Given the description of an element on the screen output the (x, y) to click on. 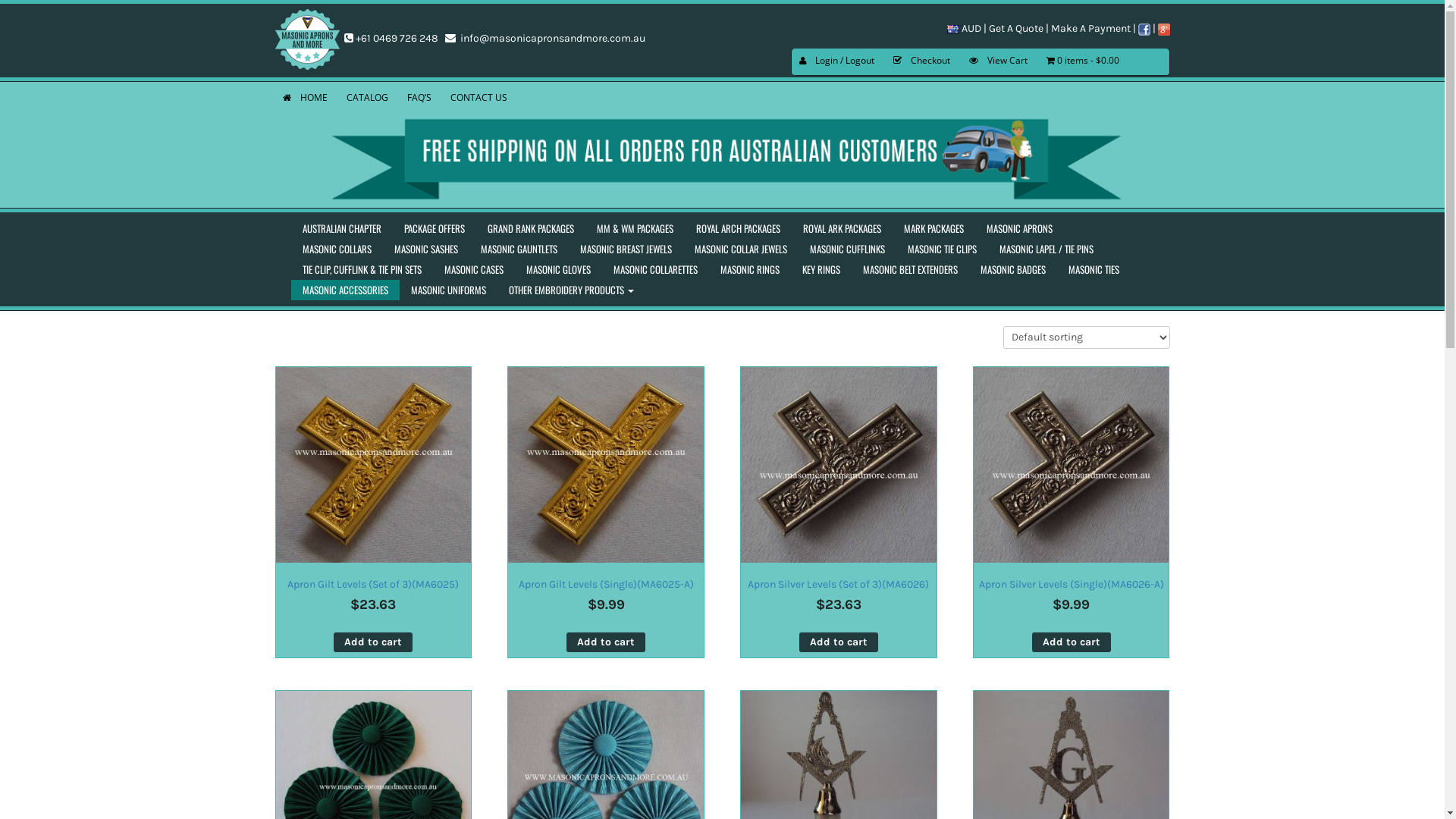
View Cart Element type: text (998, 61)
MASONIC GLOVES Element type: text (557, 269)
Add to cart Element type: text (838, 642)
HOME Element type: text (304, 98)
Apron Gilt Levels (Set of 3)(MA6025)
$23.63 Element type: text (373, 507)
Get A Quote Element type: text (1015, 25)
CATALOG Element type: text (366, 98)
MASONIC CUFFLINKS Element type: text (846, 248)
Checkout Element type: text (921, 61)
OTHER EMBROIDERY PRODUCTS Element type: text (571, 289)
KEY RINGS Element type: text (820, 269)
AUSTRALIAN CHAPTER Element type: text (341, 228)
TIE CLIP, CUFFLINK & TIE PIN SETS Element type: text (362, 269)
CONTACT US Element type: text (478, 98)
Apron Silver Levels (Single)(MA6026-A)
$9.99 Element type: text (1071, 507)
Add to cart Element type: text (1071, 642)
MM & WM PACKAGES Element type: text (634, 228)
Apron Gilt Levels (Single)(MA6025-A)
$9.99 Element type: text (605, 507)
0 items$0.00 Element type: text (1082, 61)
MASONIC GAUNTLETS Element type: text (517, 248)
MASONIC COLLAR JEWELS Element type: text (739, 248)
MASONIC SASHES Element type: text (425, 248)
MARK PACKAGES Element type: text (932, 228)
Add to cart Element type: text (372, 642)
MASONIC CASES Element type: text (473, 269)
ROYAL ARCH PACKAGES Element type: text (737, 228)
MASONIC COLLARS Element type: text (336, 248)
GRAND RANK PACKAGES Element type: text (530, 228)
Apron Silver Levels (Set of 3)(MA6026)
$23.63 Element type: text (838, 507)
MASONIC TIES Element type: text (1093, 269)
MASONIC LAPEL / TIE PINS Element type: text (1045, 248)
MASONIC BREAST JEWELS Element type: text (625, 248)
MASONIC ACCESSORIES Element type: text (345, 289)
Login / Logout Element type: text (836, 61)
MASONIC TIE CLIPS Element type: text (942, 248)
Add to cart Element type: text (605, 642)
PACKAGE OFFERS Element type: text (434, 228)
MASONIC APRONS Element type: text (1019, 228)
MASONIC BELT EXTENDERS Element type: text (909, 269)
Make A Payment Element type: text (1090, 25)
ROYAL ARK PACKAGES Element type: text (841, 228)
MASONIC RINGS Element type: text (749, 269)
MASONIC UNIFORMS Element type: text (447, 289)
MASONIC COLLARETTES Element type: text (655, 269)
MASONIC BADGES Element type: text (1013, 269)
